Given the description of an element on the screen output the (x, y) to click on. 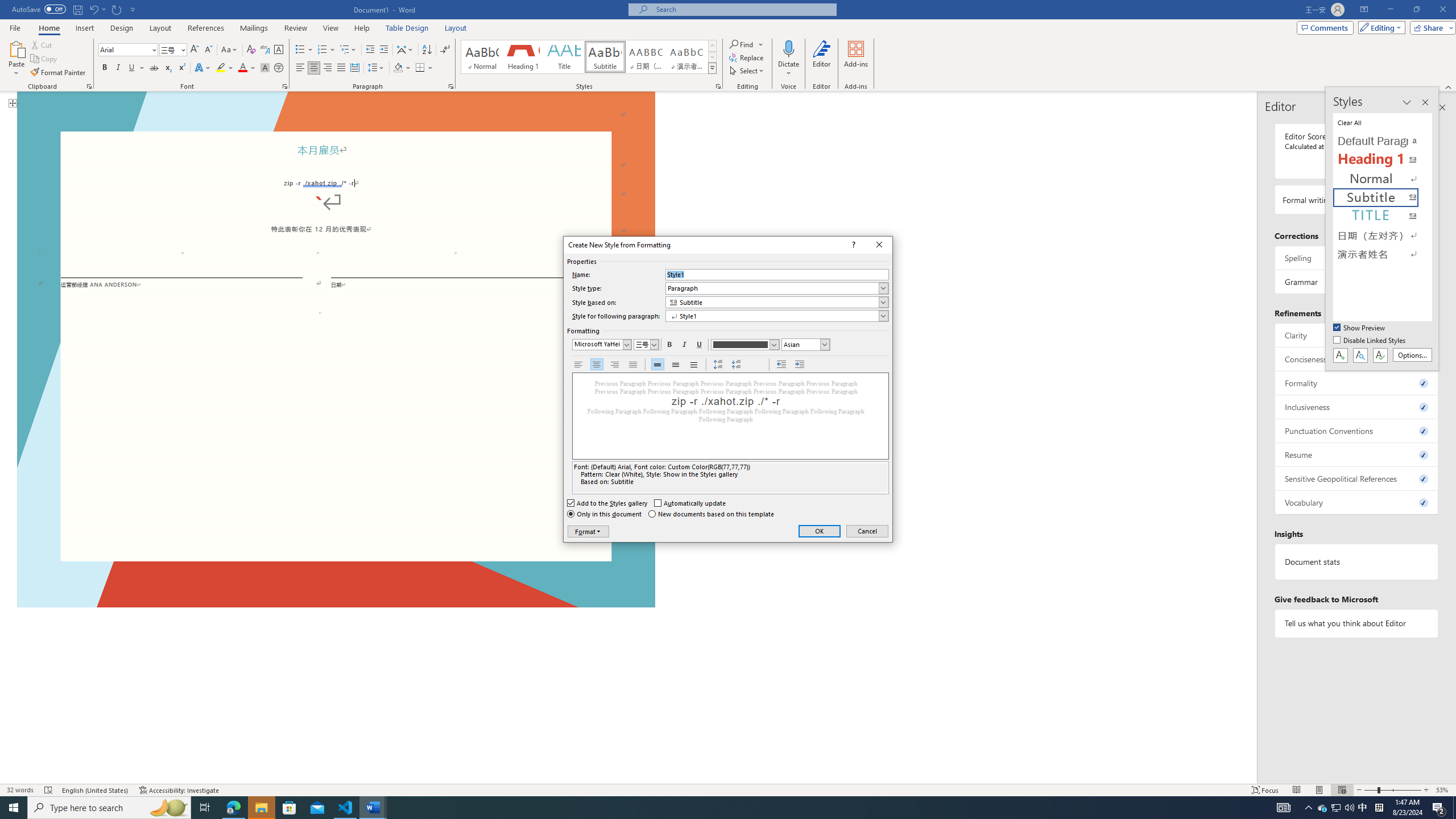
Running applications (700, 807)
Show Preview (1360, 328)
Search highlights icon opens search home window (167, 807)
Double Spacing (693, 364)
Vocabulary, 0 issues. Press space or enter to review items. (1356, 502)
Microsoft Store (289, 807)
